Given the description of an element on the screen output the (x, y) to click on. 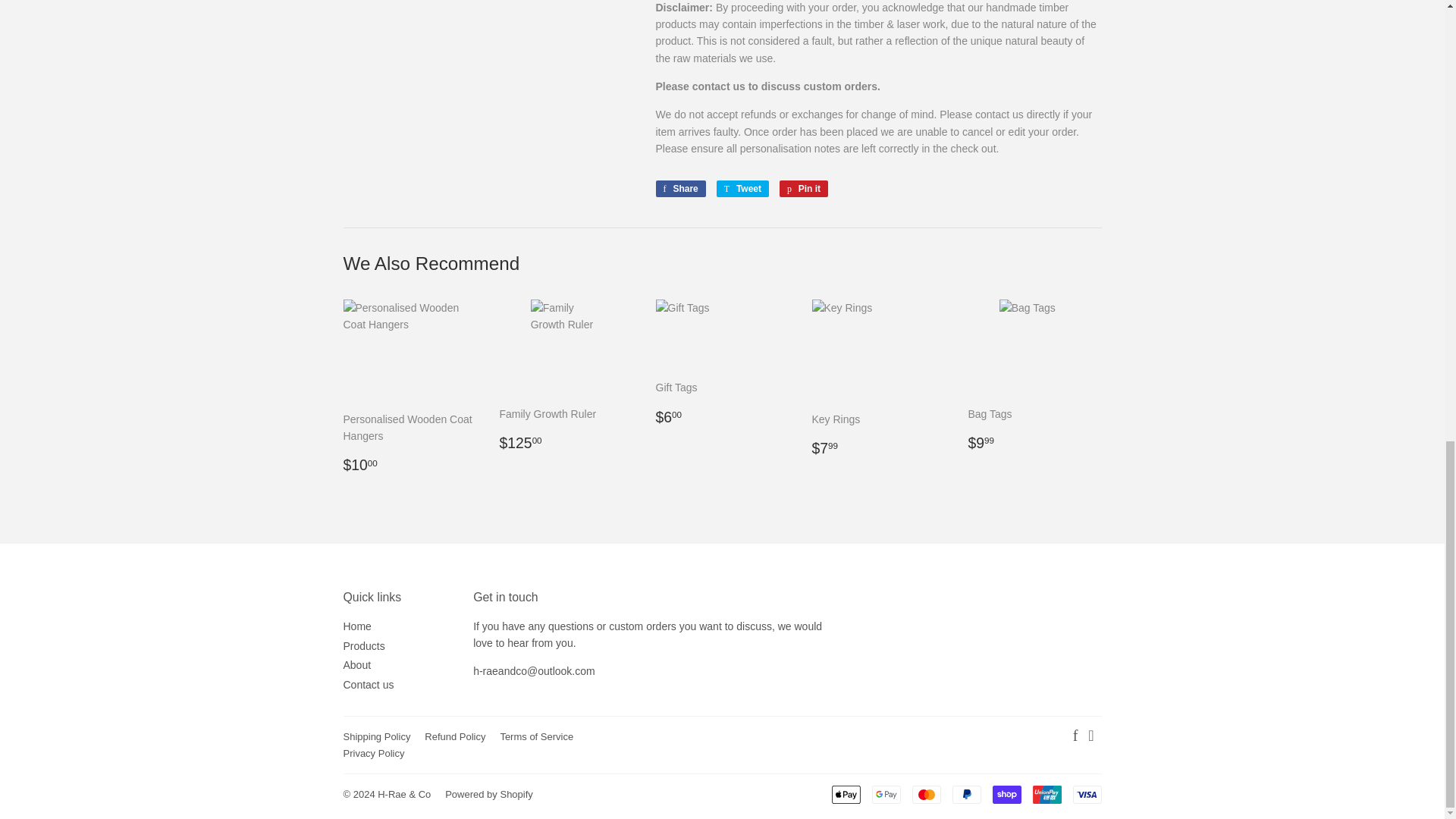
Visa (1085, 794)
Shop Pay (1005, 794)
Pin on Pinterest (803, 188)
Share on Facebook (679, 188)
Union Pay (1046, 794)
Apple Pay (845, 794)
Tweet on Twitter (742, 188)
Mastercard (925, 794)
PayPal (966, 794)
Contact us (534, 671)
Google Pay (886, 794)
